Given the description of an element on the screen output the (x, y) to click on. 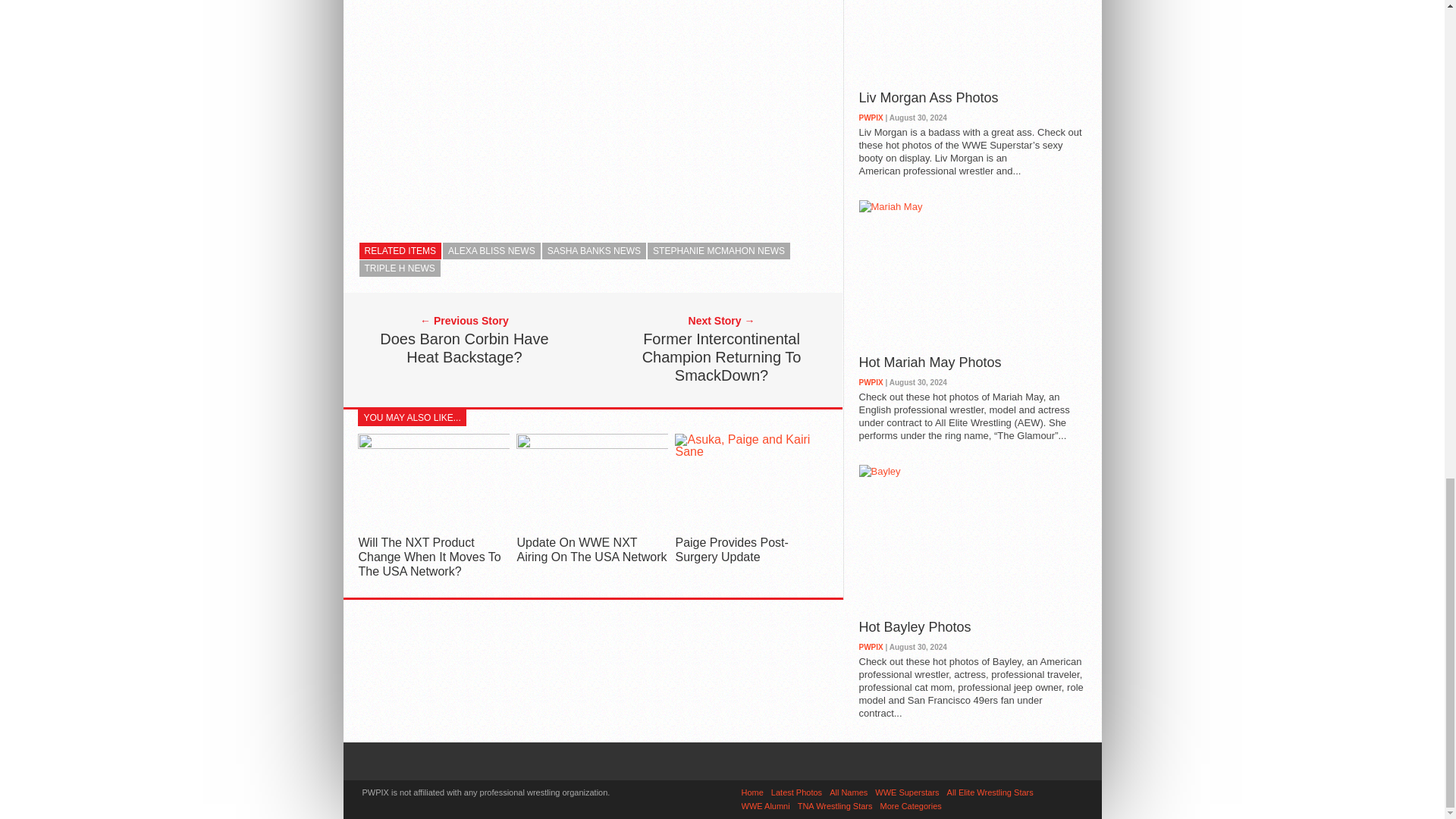
ALEXA BLISS NEWS (491, 250)
STEPHANIE MCMAHON NEWS (718, 250)
TRIPLE H NEWS (400, 268)
Does Baron Corbin Have Heat Backstage? (463, 348)
SASHA BANKS NEWS (593, 250)
Former Intercontinental Champion Returning To SmackDown? (722, 357)
